Given the description of an element on the screen output the (x, y) to click on. 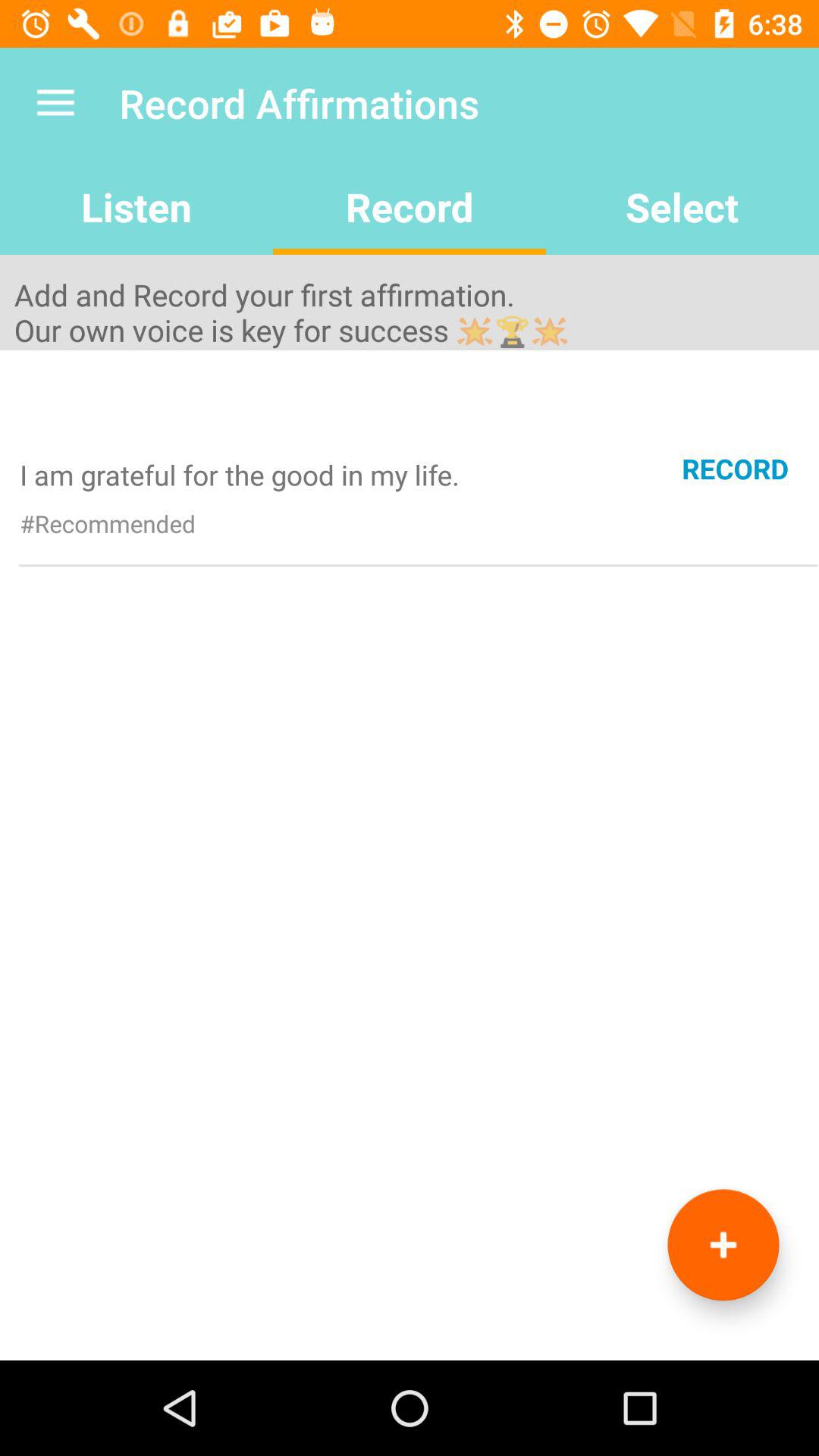
click icon next to record affirmations icon (55, 103)
